Given the description of an element on the screen output the (x, y) to click on. 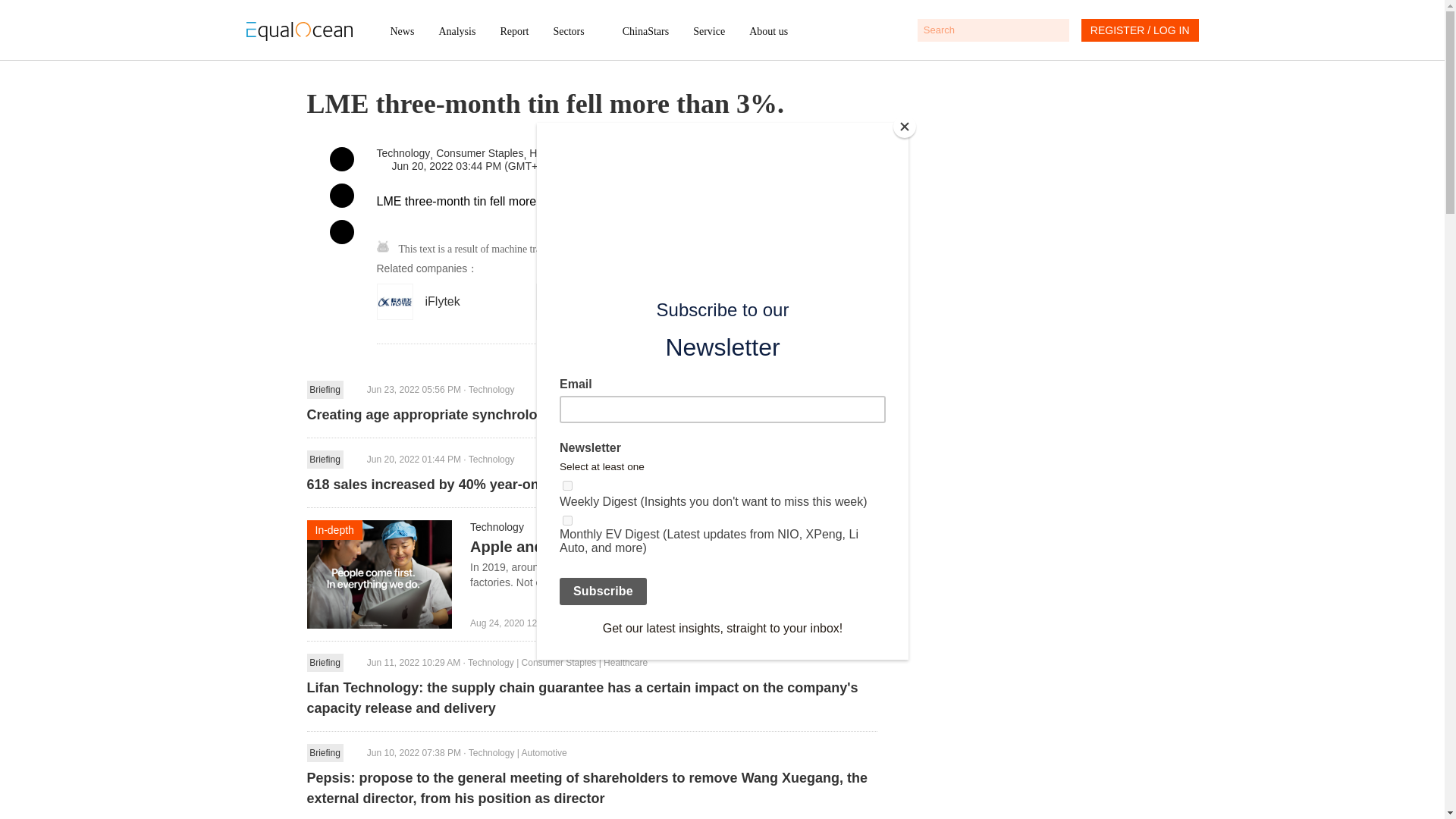
iFlytek (448, 301)
Consumer Staples, (482, 152)
Technology, (405, 152)
Healthcare (554, 152)
ZTE (608, 301)
ChinaStars (645, 31)
